Given the description of an element on the screen output the (x, y) to click on. 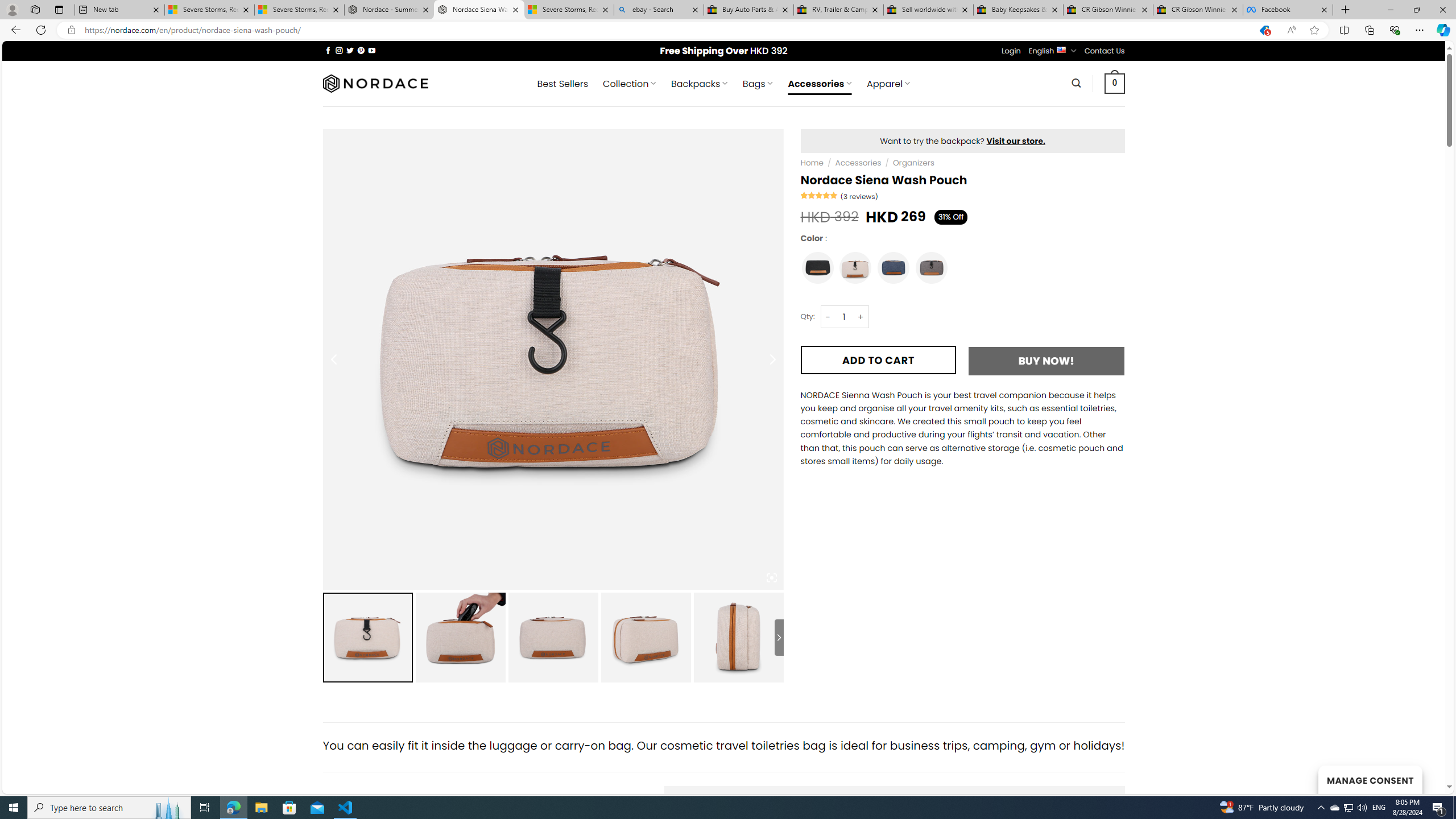
Nordace Siena Wash Pouch (738, 637)
RV, Trailer & Camper Steps & Ladders for sale | eBay (838, 9)
English (1061, 49)
Follow on YouTube (371, 49)
ADD TO CART (878, 360)
MANAGE CONSENT (1369, 779)
